Given the description of an element on the screen output the (x, y) to click on. 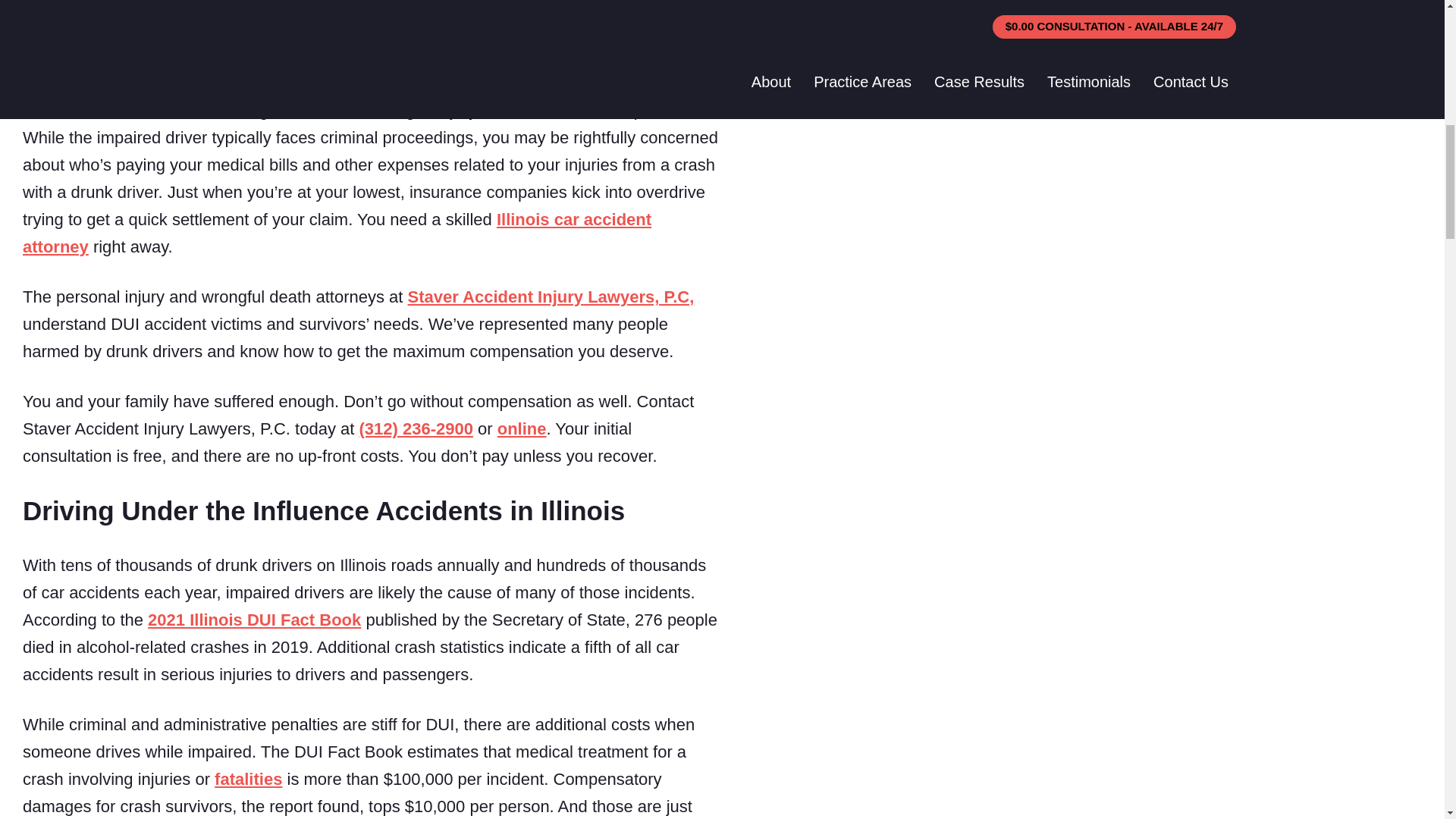
Call Staver Accident Injury Lawyers - Today (414, 428)
Staver Accident Injury Lawyers, P.C, (550, 296)
fatalities (248, 778)
Contact Staver Accident Injury Lawyers (522, 428)
Illinois Car Accident Injury Lawyers (550, 296)
online (522, 428)
2021 Illinois DUI Fact Book (254, 619)
2021 Illinois DUI Fact Book (254, 619)
Illinois car accident attorney (336, 232)
Illinois Car Accident Attorneys (336, 232)
Illinois Fatal Car Accident Injury Lawyers (248, 778)
